Given the description of an element on the screen output the (x, y) to click on. 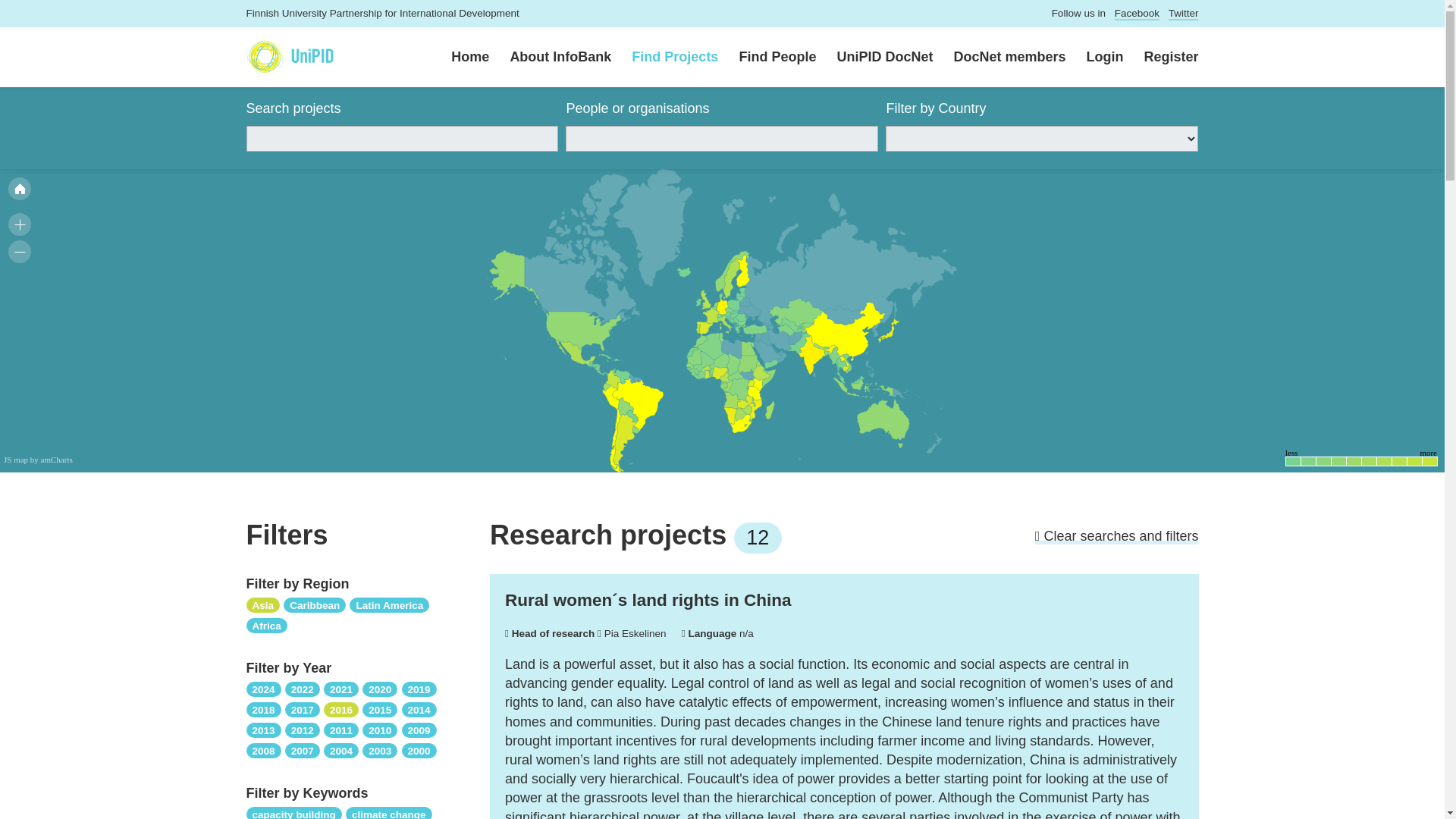
2017 (302, 708)
Twitter (1183, 13)
2022 (302, 688)
2008 (263, 749)
JS map by amCharts (38, 459)
2009 (418, 729)
2000 (418, 749)
UniPID DocNet (874, 56)
Caribbean (314, 604)
2016 (340, 708)
2021 (340, 688)
2003 (379, 749)
2015 (379, 708)
2012 (302, 729)
2007 (302, 749)
